Given the description of an element on the screen output the (x, y) to click on. 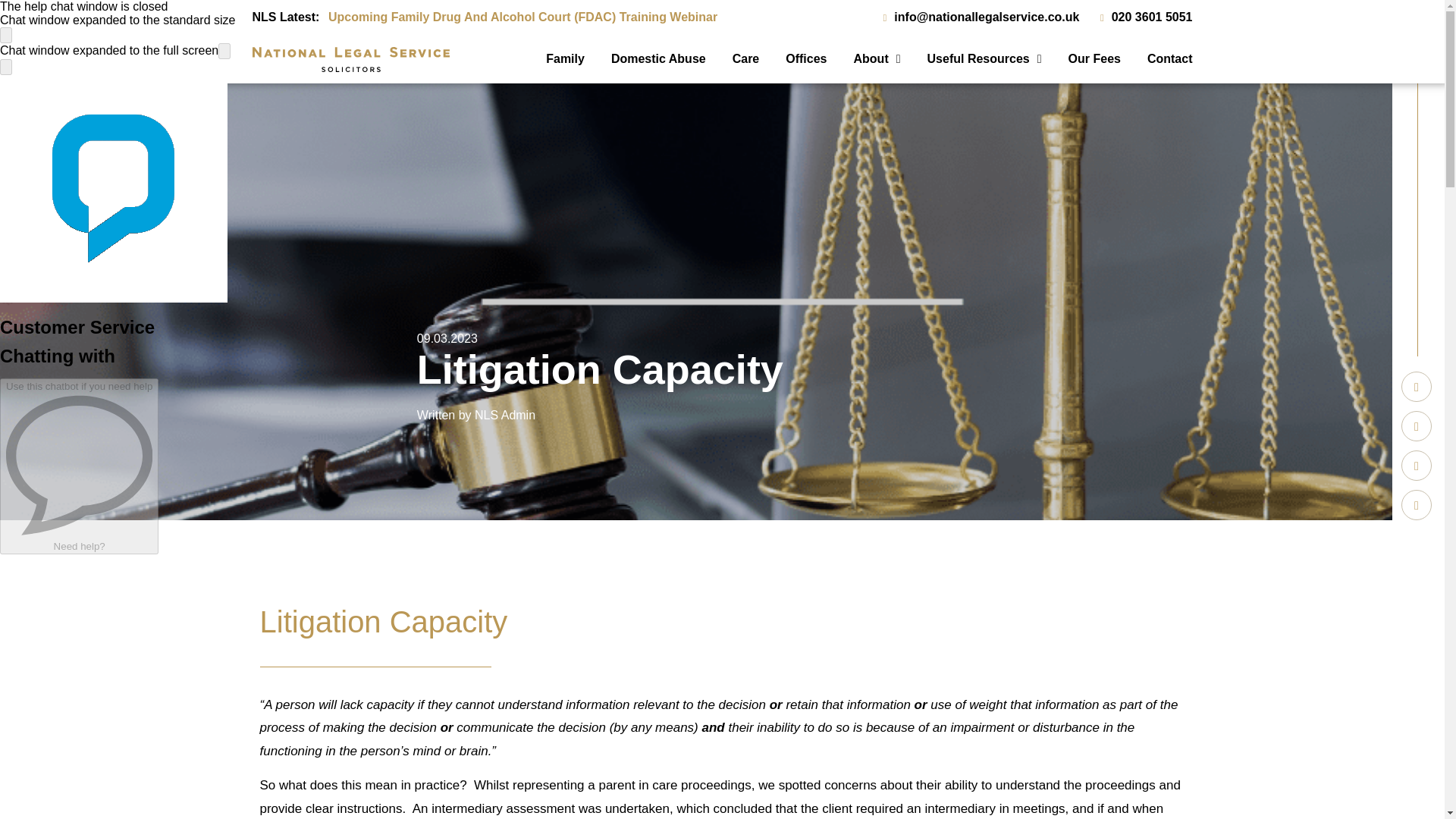
Our Fees (1081, 59)
Family (565, 59)
020 3601 5051 (1141, 17)
Contact (1156, 59)
Offices (792, 59)
About (864, 59)
Domestic Abuse (645, 59)
Useful Resources (971, 59)
Care (733, 59)
